Given the description of an element on the screen output the (x, y) to click on. 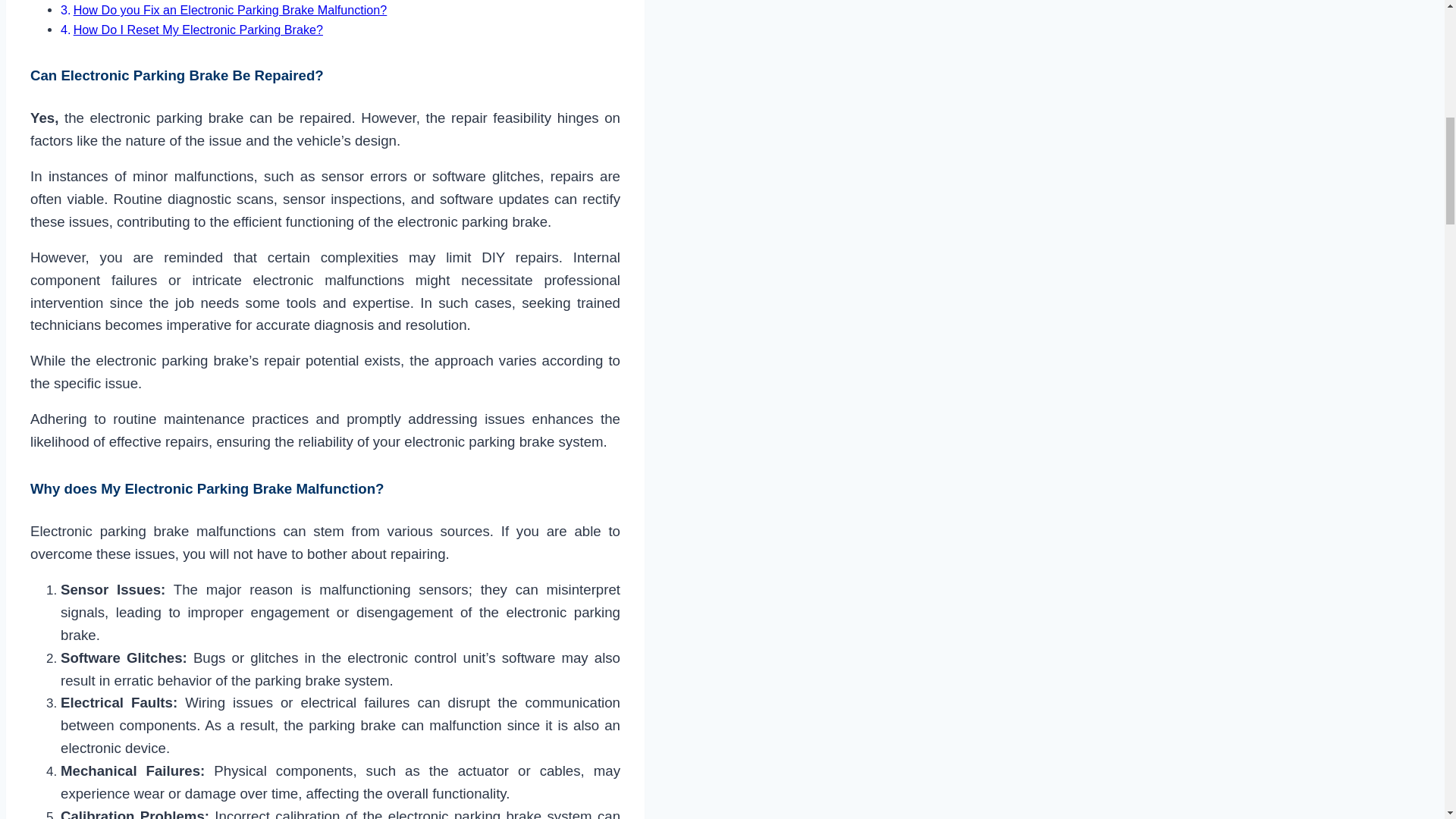
How Do I Reset My Electronic Parking Brake? (198, 29)
How Do I Reset My Electronic Parking Brake? (198, 29)
How Do you Fix an Electronic Parking Brake Malfunction? (230, 9)
How Do you Fix an Electronic Parking Brake Malfunction? (230, 9)
